Given the description of an element on the screen output the (x, y) to click on. 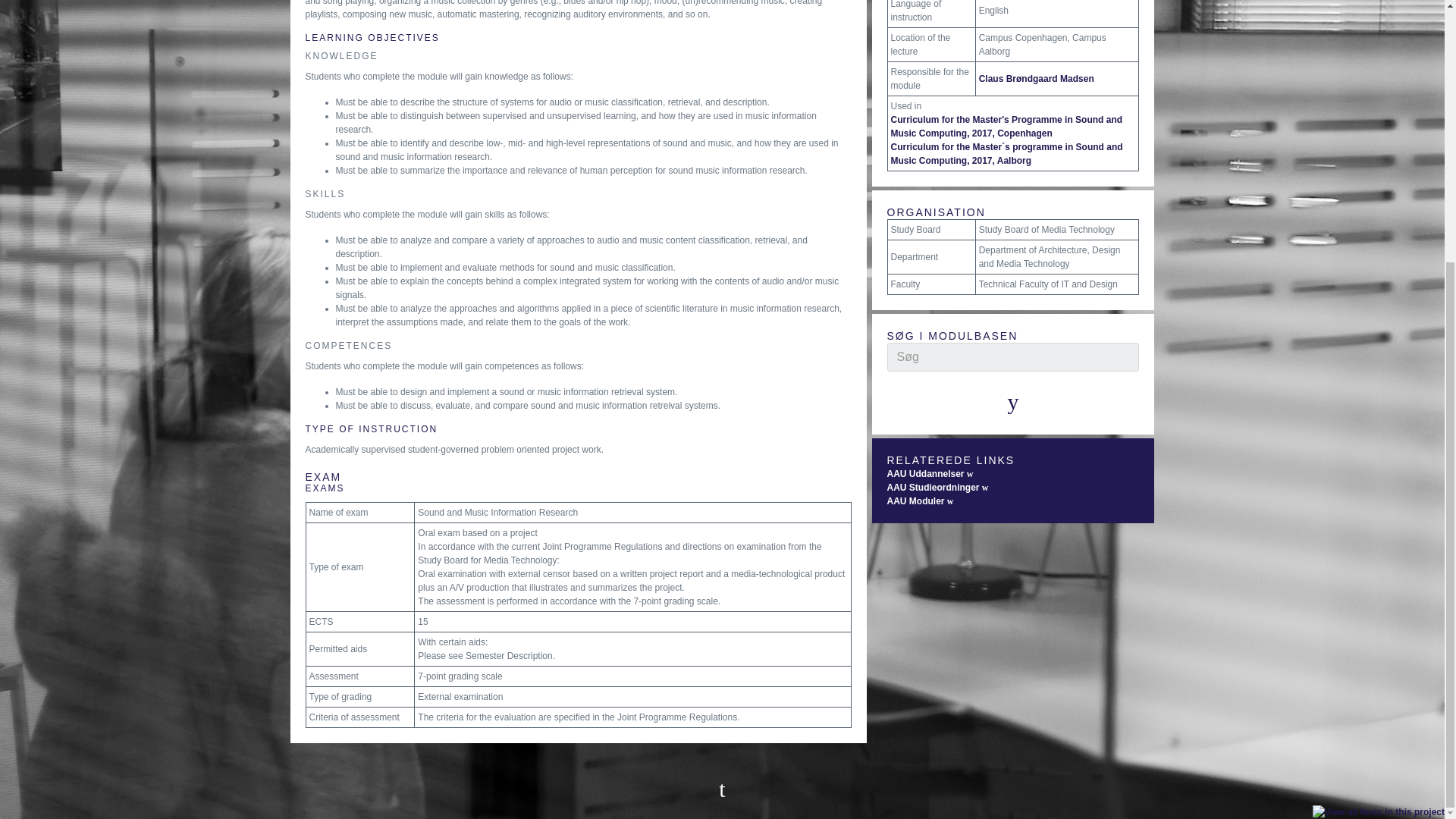
AAU Moduler w (919, 501)
AAU Uddannelser w (930, 473)
AAU Studieordninger w (937, 487)
